Given the description of an element on the screen output the (x, y) to click on. 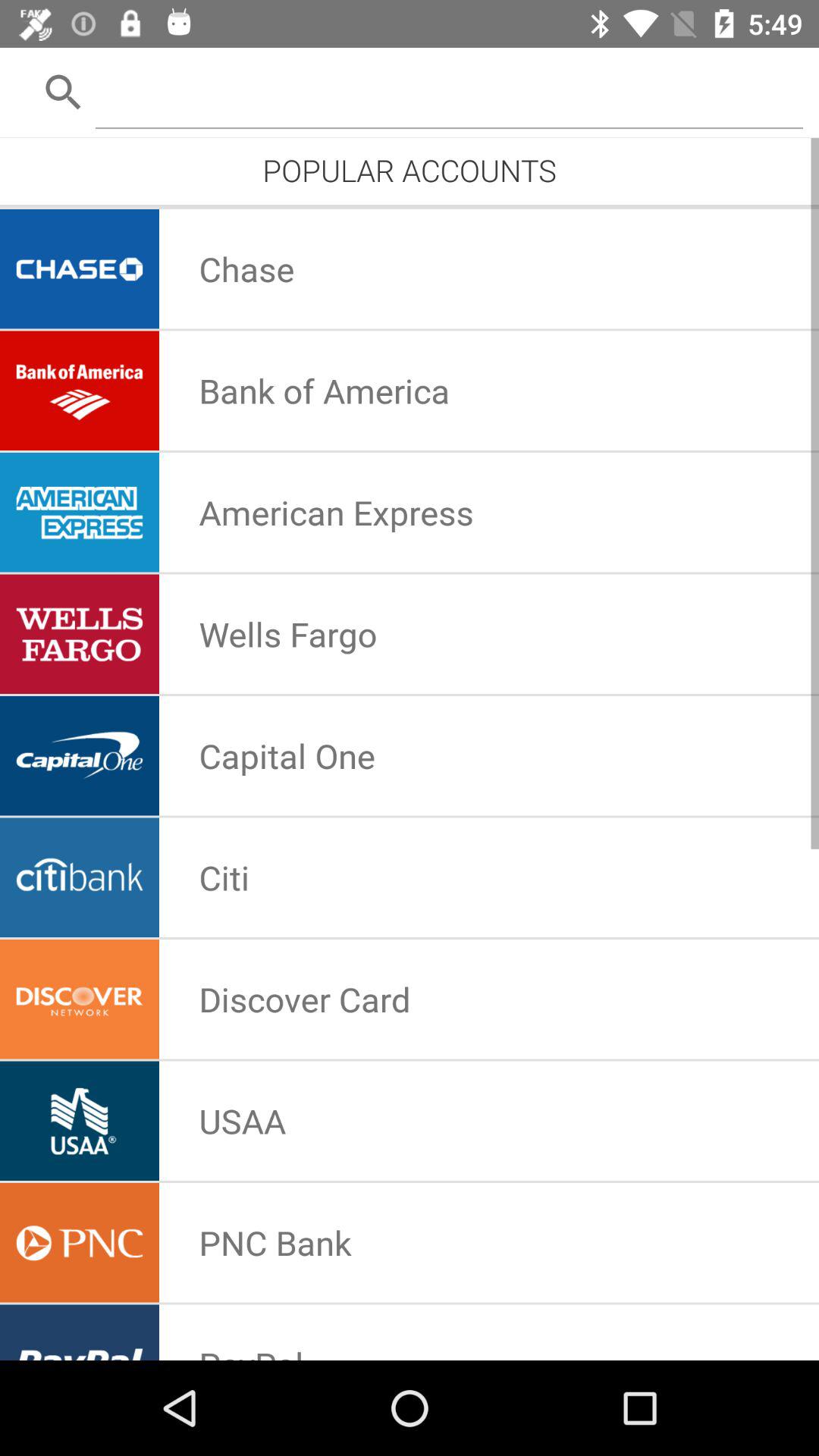
flip until discover card app (304, 999)
